Given the description of an element on the screen output the (x, y) to click on. 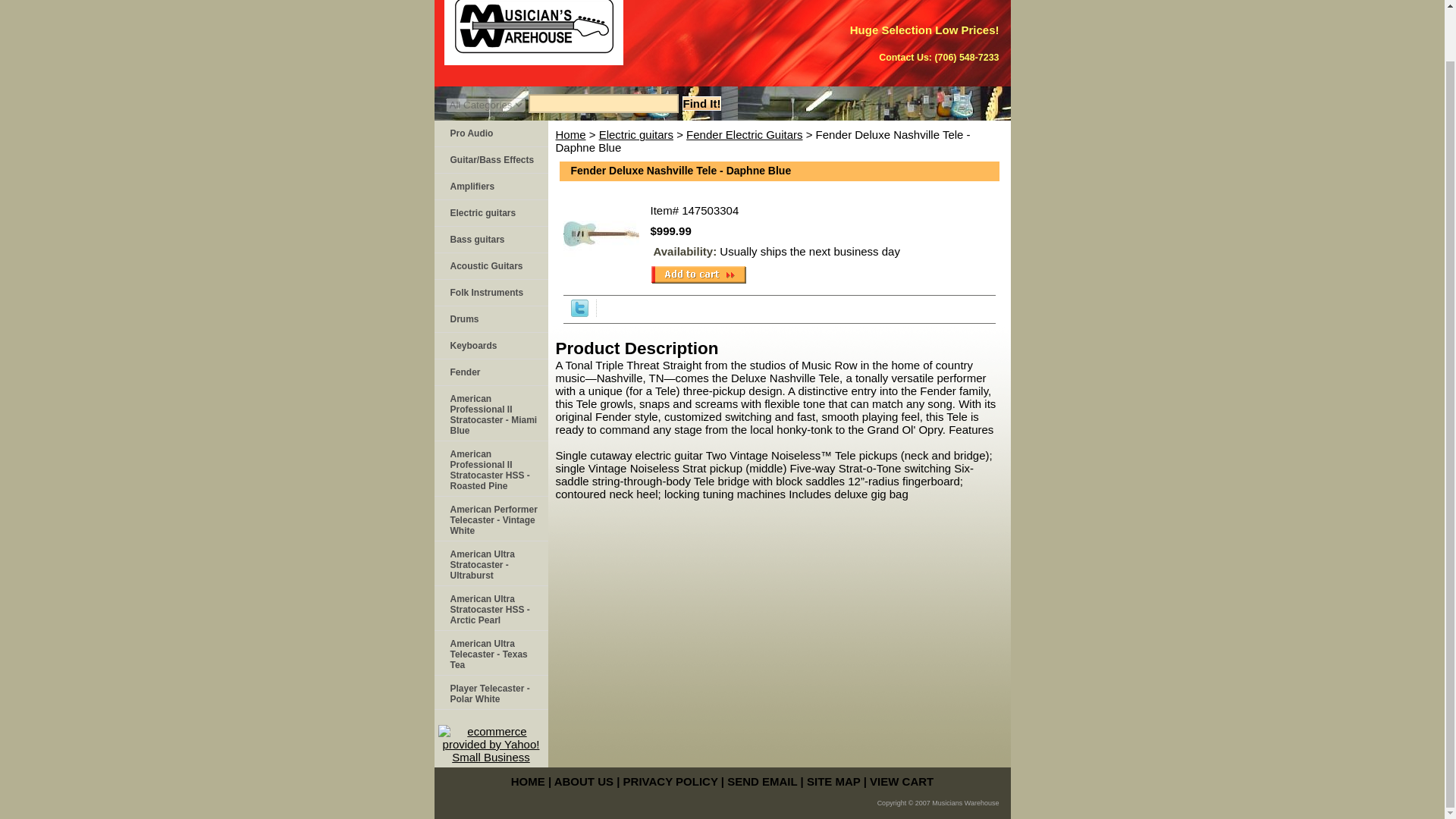
Folk Instruments (490, 293)
Amplifiers (490, 186)
Tweet (579, 312)
Acoustic Guitars (490, 266)
Home (569, 133)
American Professional II Stratocaster - Miami Blue (490, 413)
SITE MAP (833, 780)
The Musician's Warehouse (622, 38)
American Professional II Stratocaster HSS - Roasted Pine (490, 468)
Bass guitars (490, 239)
American Professional II Stratocaster - Miami Blue (490, 413)
VIEW CART (901, 780)
Amplifiers (490, 186)
Add to cart (697, 274)
Pro Audio (490, 133)
